Given the description of an element on the screen output the (x, y) to click on. 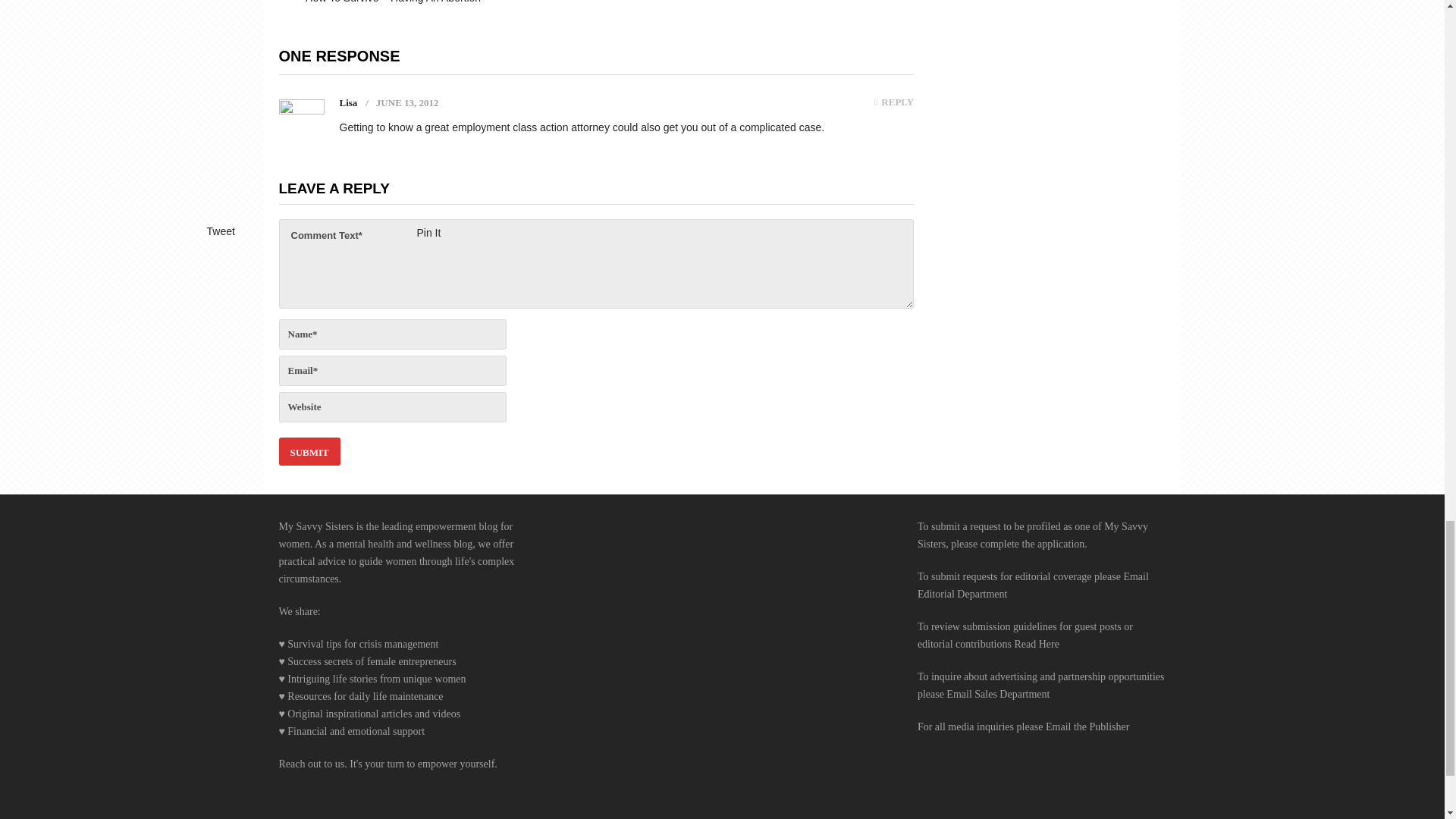
Submit (309, 451)
employment class action attorney (530, 127)
Submit (309, 451)
Lisa (348, 102)
REPLY (894, 102)
